Given the description of an element on the screen output the (x, y) to click on. 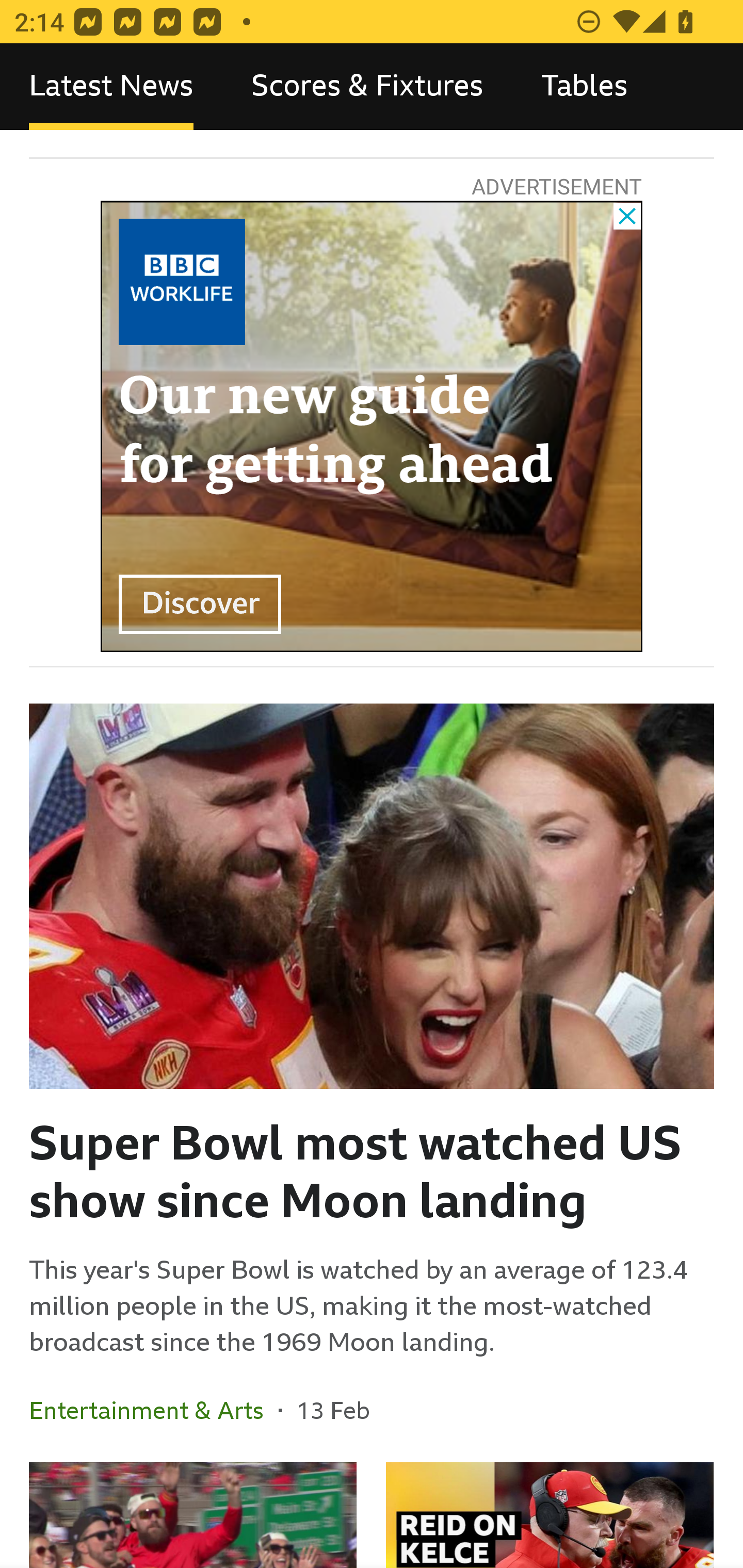
Latest News, selected Latest News (111, 86)
Scores & Fixtures (367, 86)
Tables (584, 86)
